Given the description of an element on the screen output the (x, y) to click on. 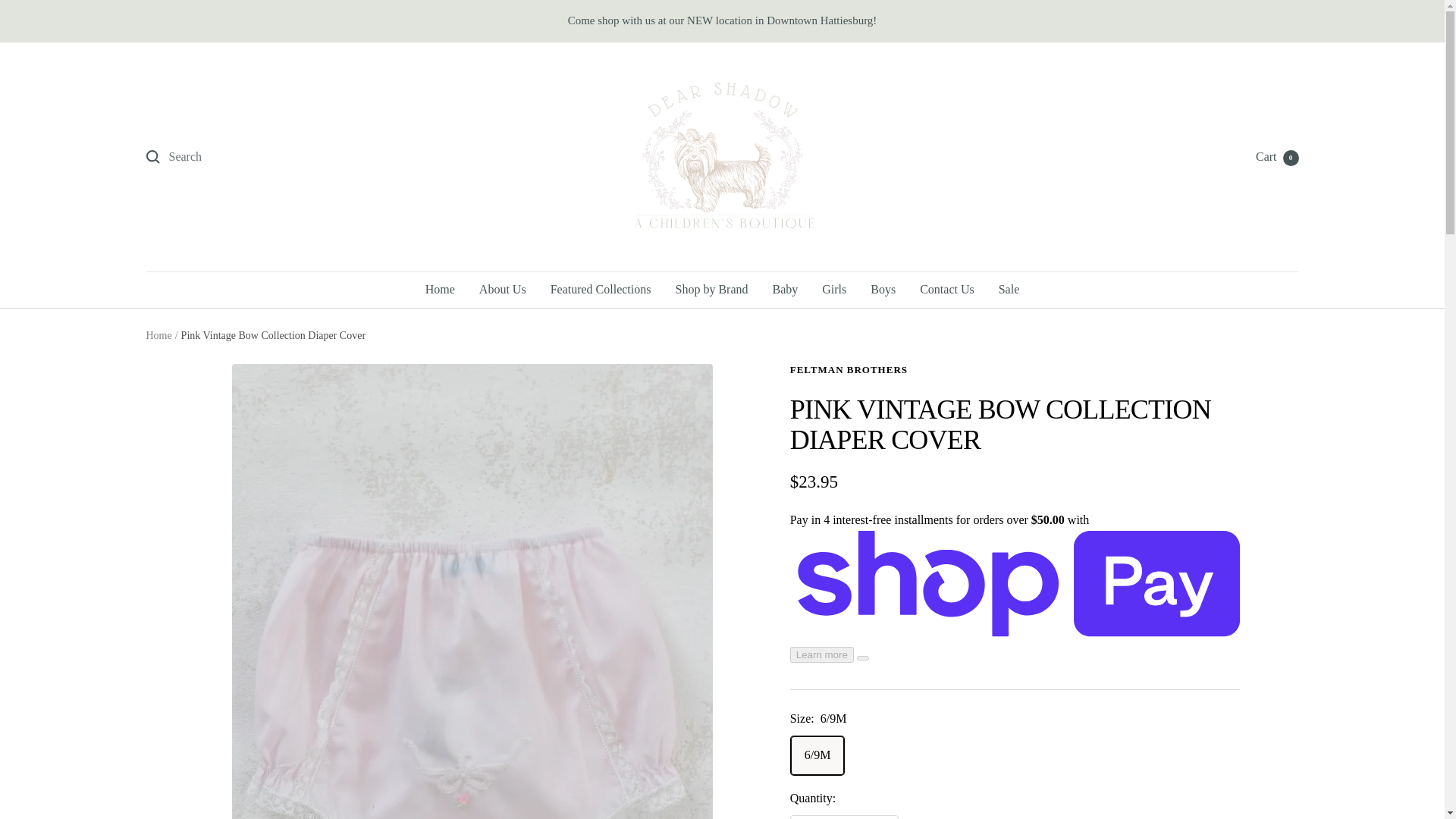
Decrease quantity (807, 817)
Dear Shadow: A Children's Boutique (722, 156)
Featured Collections (600, 289)
Girls (833, 289)
1 (844, 817)
Home (158, 335)
Home (439, 289)
Shop by Brand (711, 289)
Increase quantity (880, 817)
About Us (502, 289)
Baby (784, 289)
Sale (1009, 289)
Contact Us (947, 289)
Boys (882, 289)
